Given the description of an element on the screen output the (x, y) to click on. 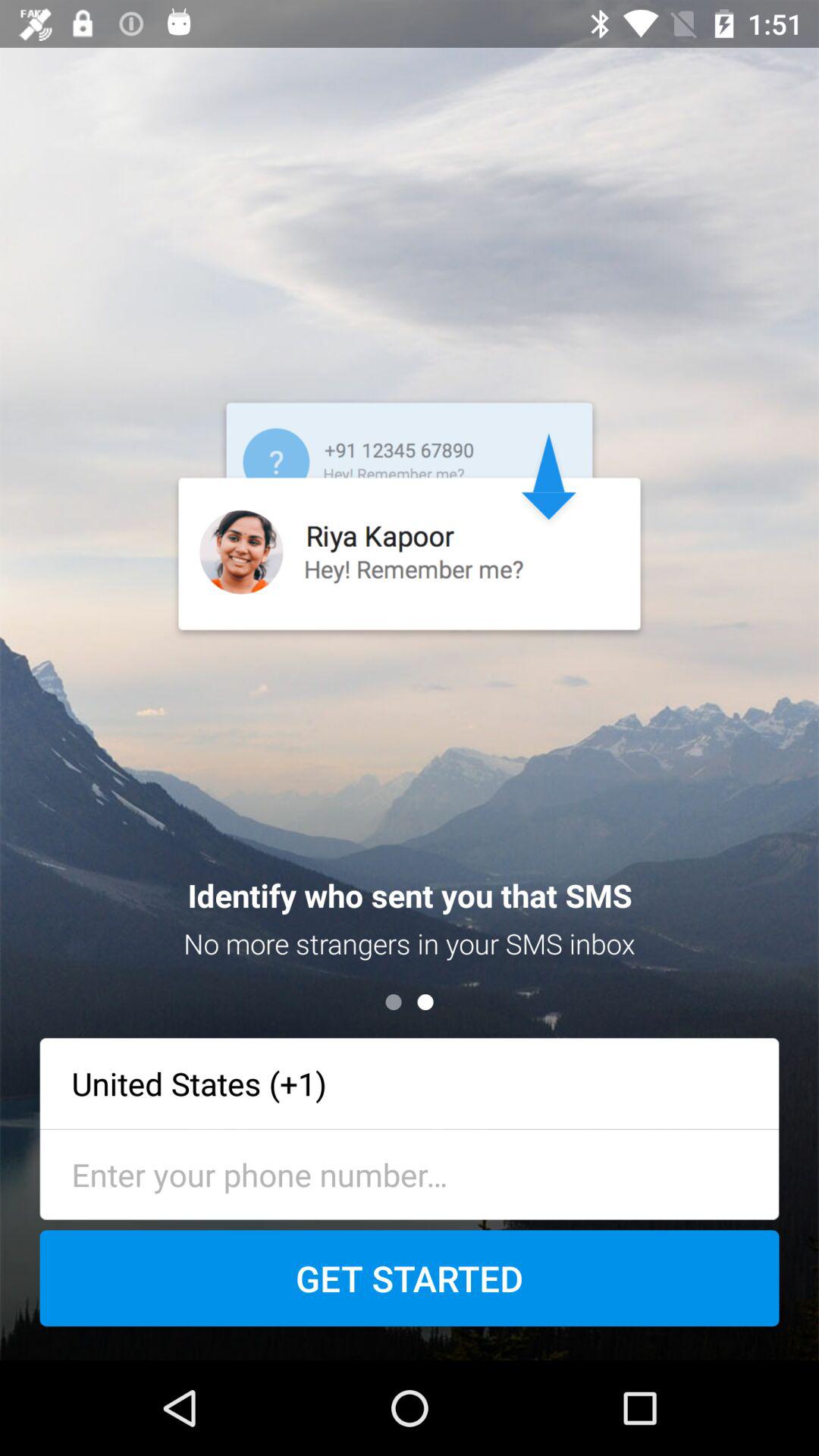
type the phone number (409, 1173)
